Given the description of an element on the screen output the (x, y) to click on. 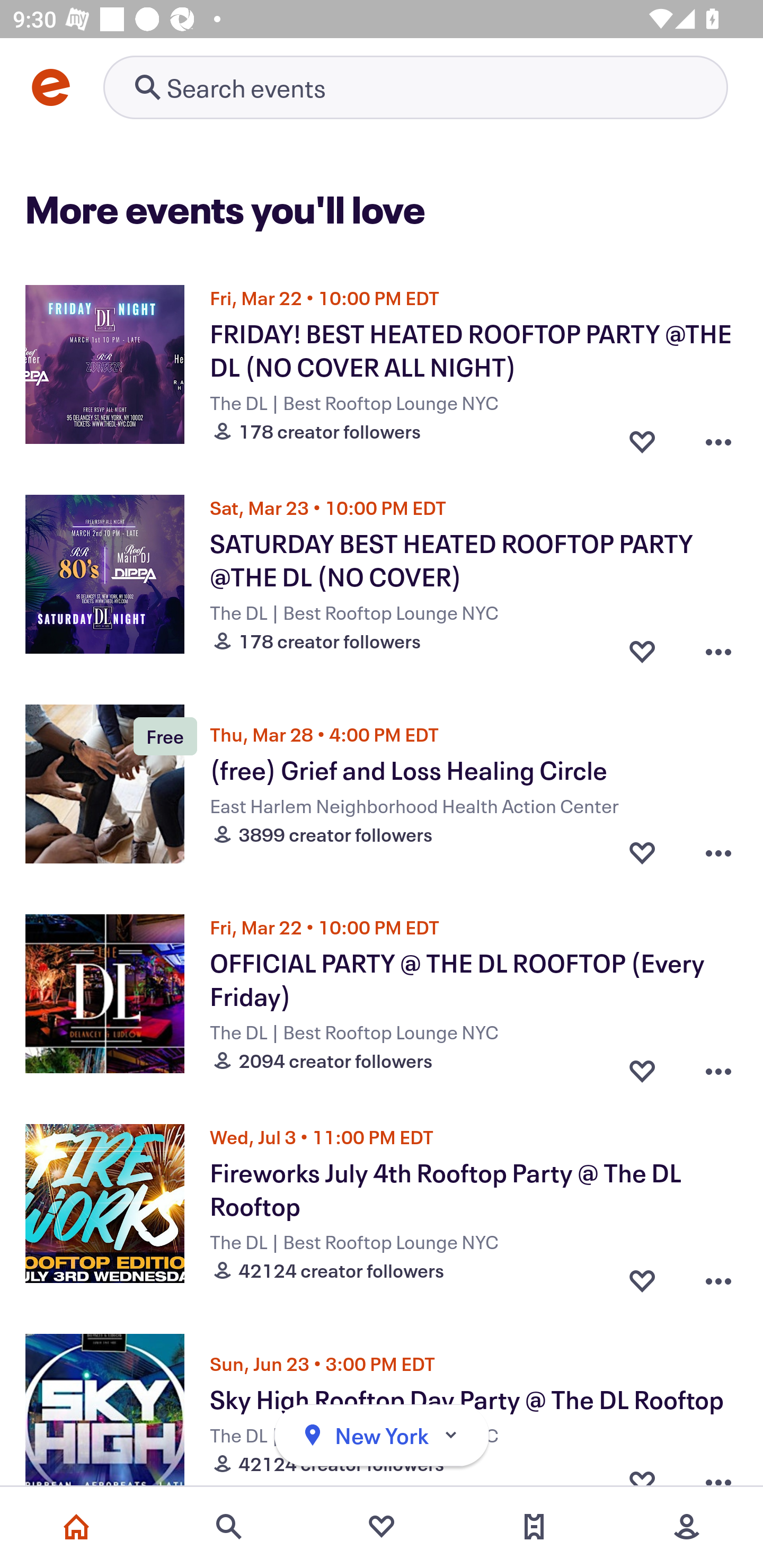
Retry's image Search events (415, 86)
Favorite button (642, 436)
Overflow menu button (718, 436)
Favorite button (642, 646)
Overflow menu button (718, 646)
Favorite button (642, 852)
Overflow menu button (718, 852)
Favorite button (642, 1066)
Overflow menu button (718, 1066)
Favorite button (642, 1275)
Overflow menu button (718, 1275)
New York (381, 1435)
Home (76, 1526)
Search events (228, 1526)
Favorites (381, 1526)
Tickets (533, 1526)
More (686, 1526)
